Given the description of an element on the screen output the (x, y) to click on. 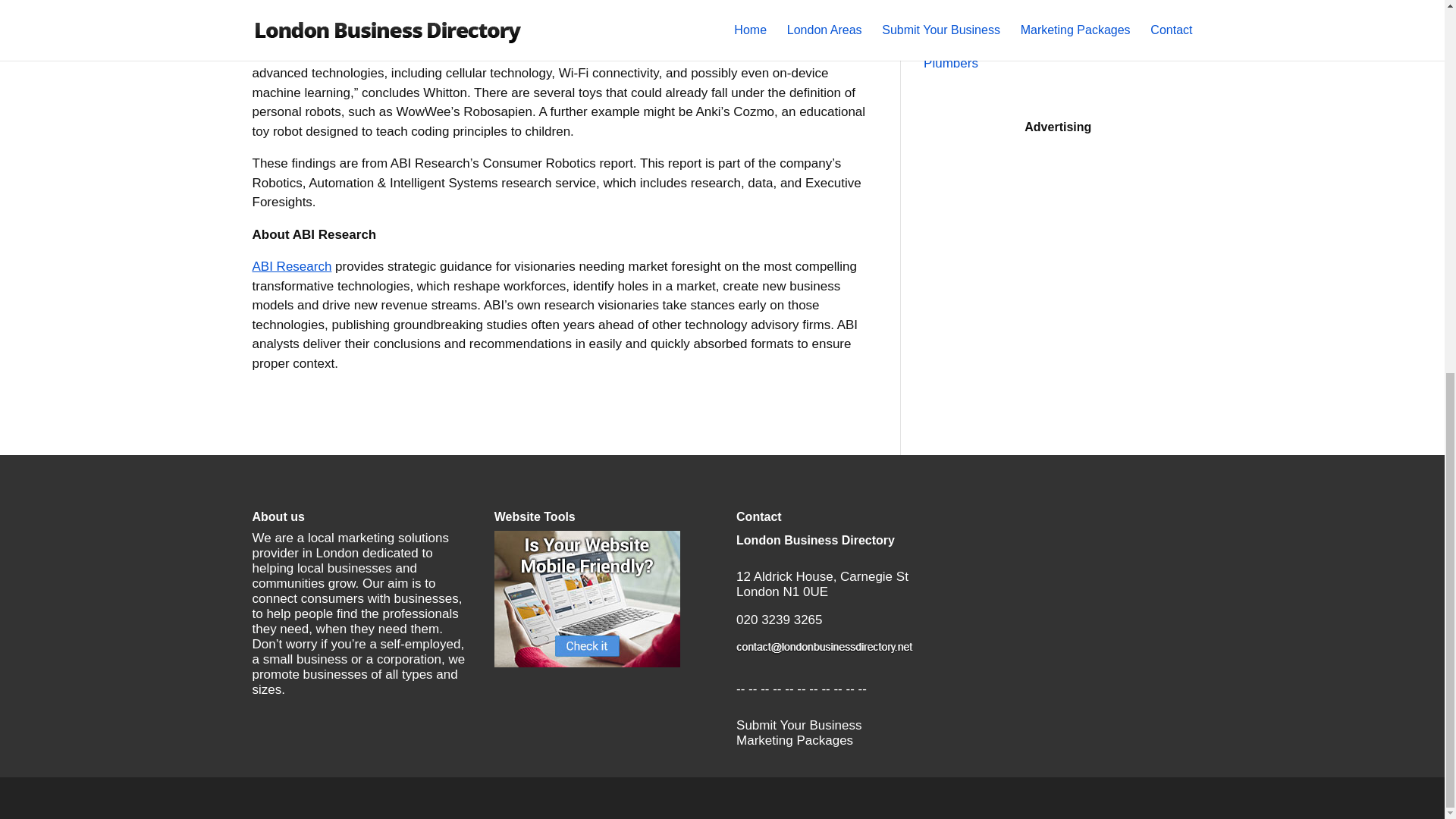
Marketing Packages (794, 740)
ABI Research (291, 266)
Handyman services (979, 37)
Plumbers (950, 63)
Cleaning services (974, 11)
Submit Your Business (798, 725)
